Given the description of an element on the screen output the (x, y) to click on. 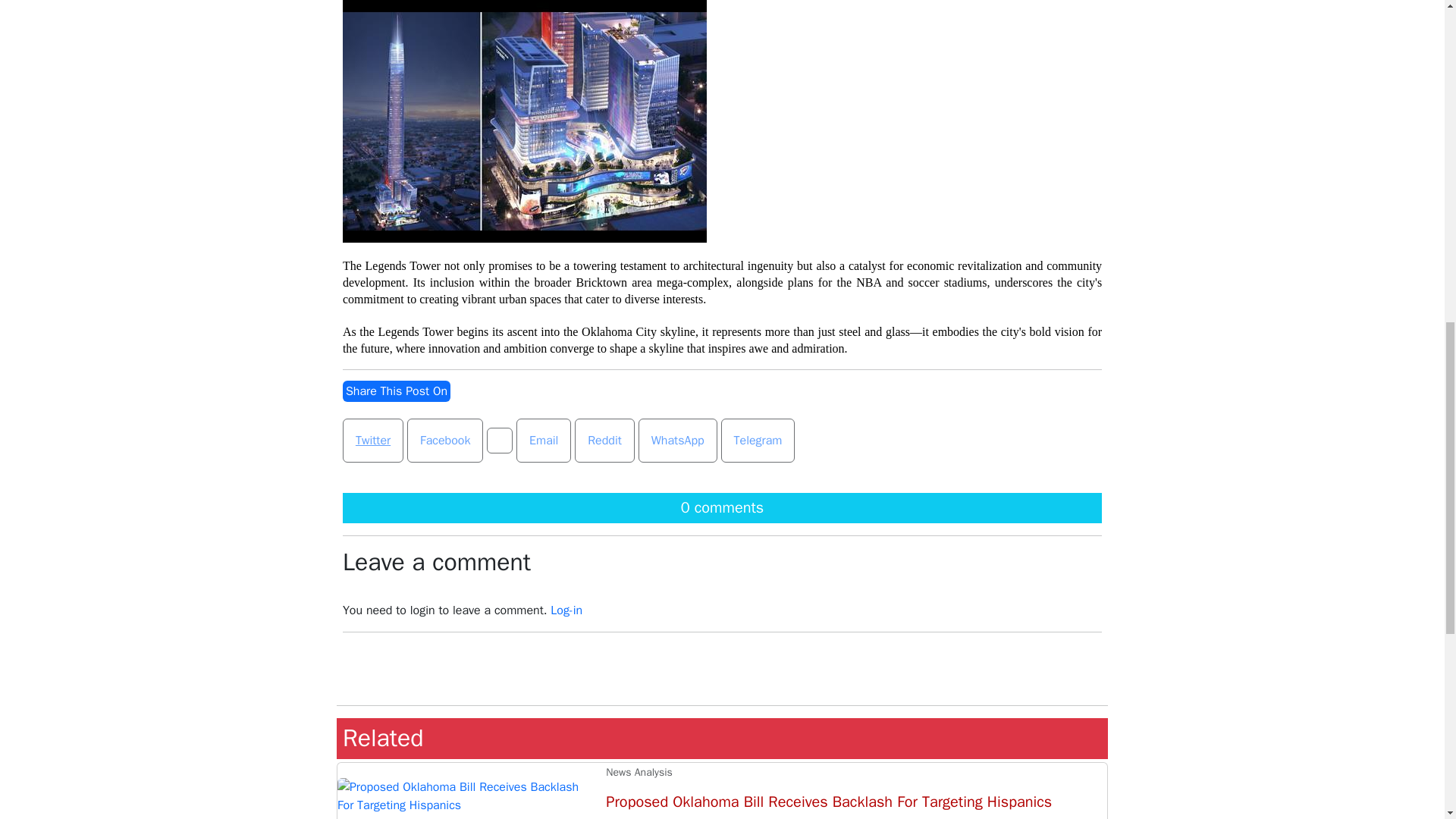
Facebook (445, 440)
Twitter (372, 440)
WhatsApp (677, 440)
Telegram (758, 440)
Email (543, 440)
Reddit (604, 440)
Email (543, 440)
WhatsApp (678, 440)
Reddit (604, 440)
Log-in (566, 610)
Facebook (445, 440)
Twitter (372, 440)
Telegram (757, 440)
